Given the description of an element on the screen output the (x, y) to click on. 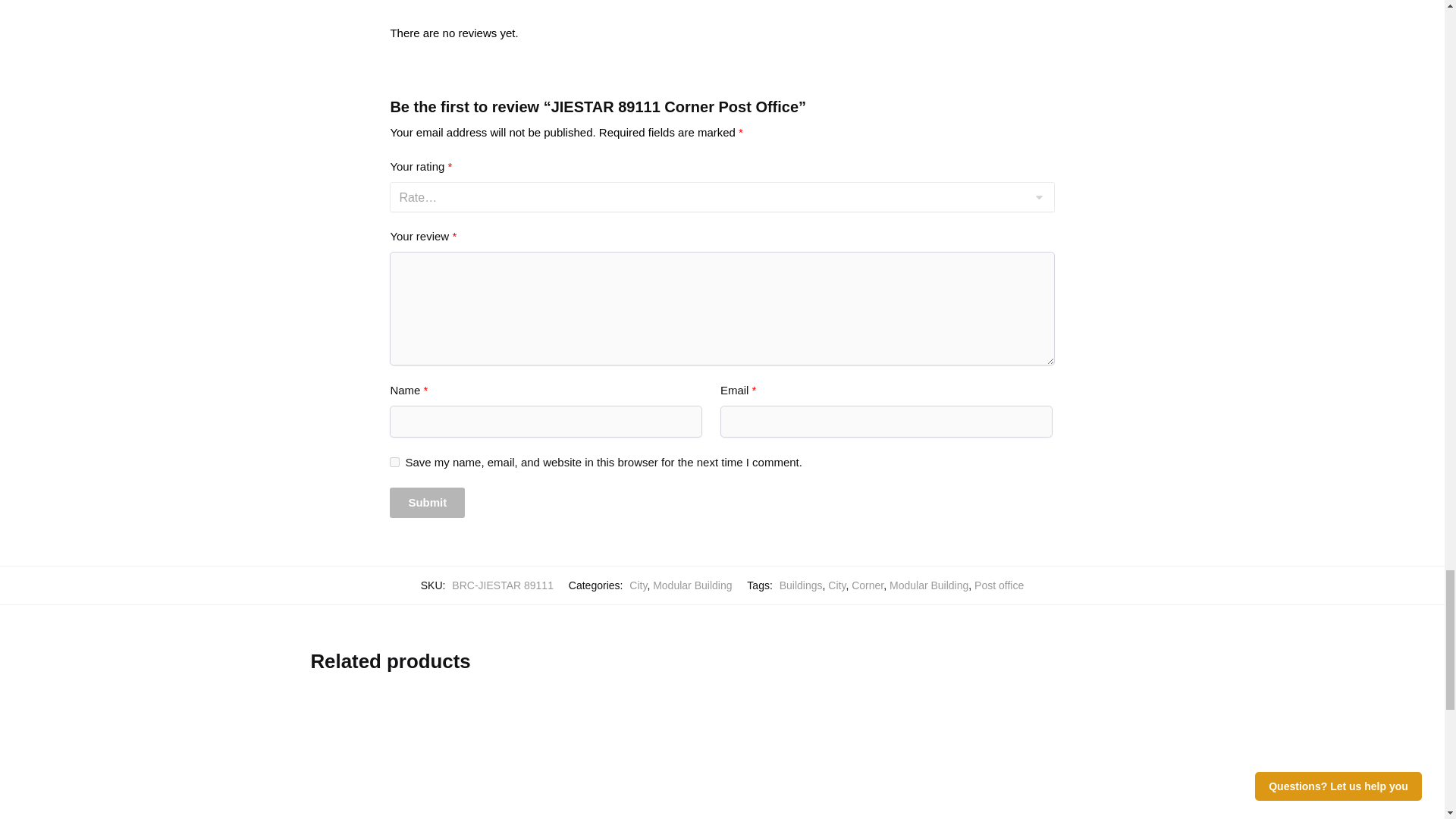
Submit (427, 501)
yes (394, 461)
